Given the description of an element on the screen output the (x, y) to click on. 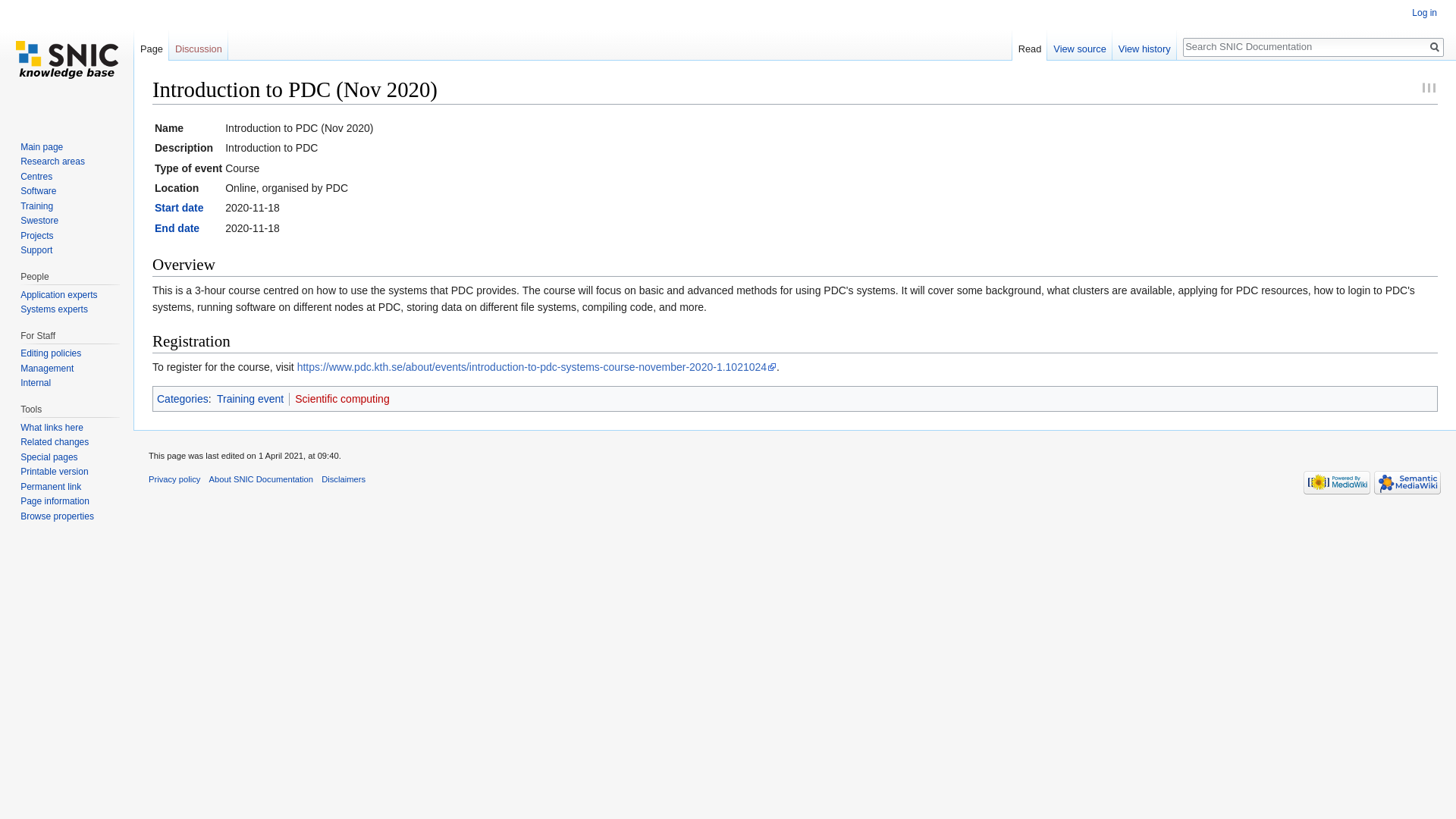
Property:Start date (178, 207)
Log in (1424, 12)
Internal (35, 382)
Support (36, 249)
Related changes (54, 441)
Start date (178, 207)
Page information (54, 501)
End date (176, 227)
Main page (41, 146)
Search (1434, 46)
